Given the description of an element on the screen output the (x, y) to click on. 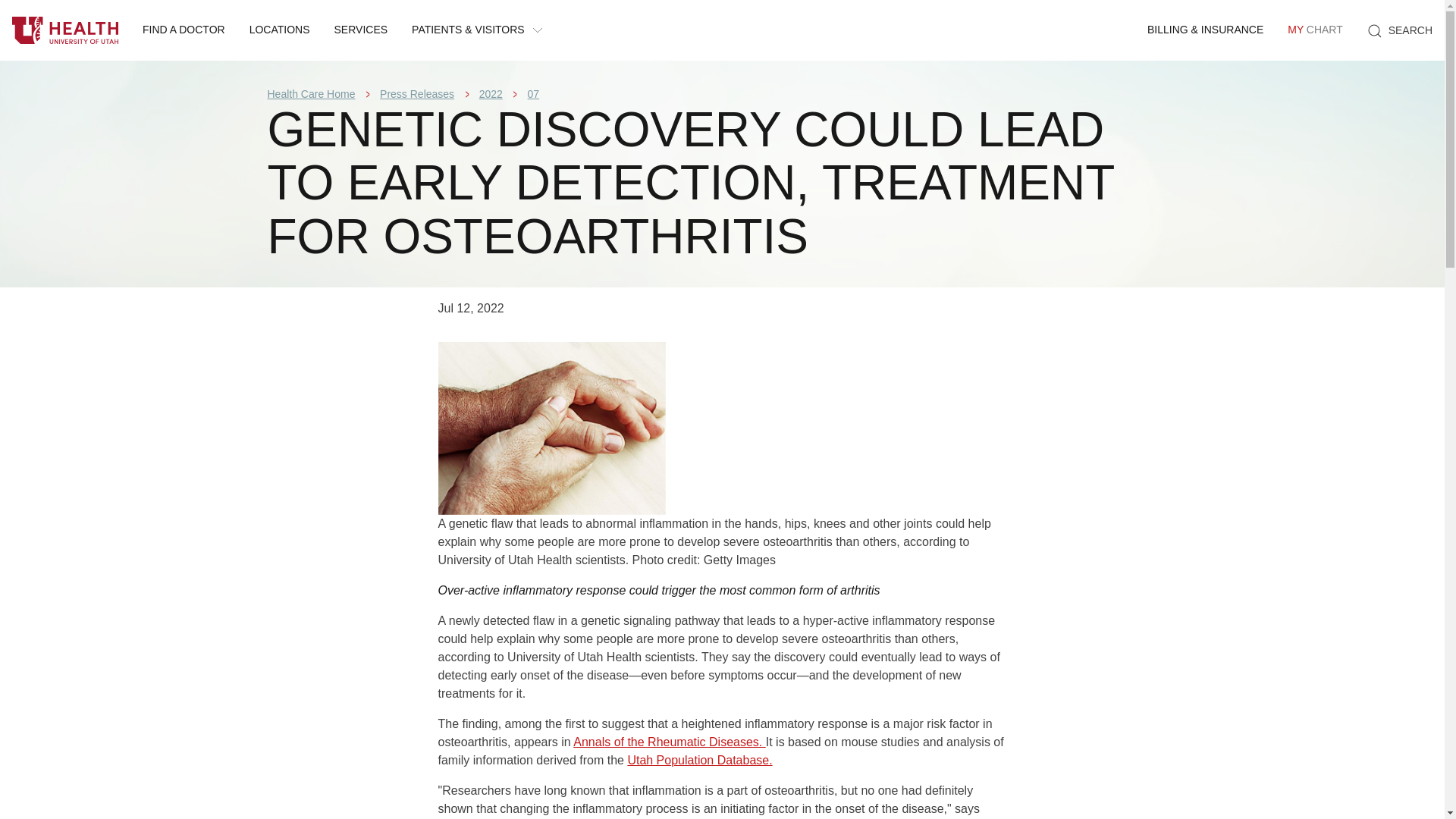
Health Care Home (310, 93)
SERVICES (360, 30)
LOCATIONS (279, 30)
Press Releases (417, 93)
University of Utah Health logo (65, 30)
SEARCH (1399, 30)
Utah Population Database. (699, 759)
FIND A DOCTOR (184, 30)
07 (533, 93)
